Given the description of an element on the screen output the (x, y) to click on. 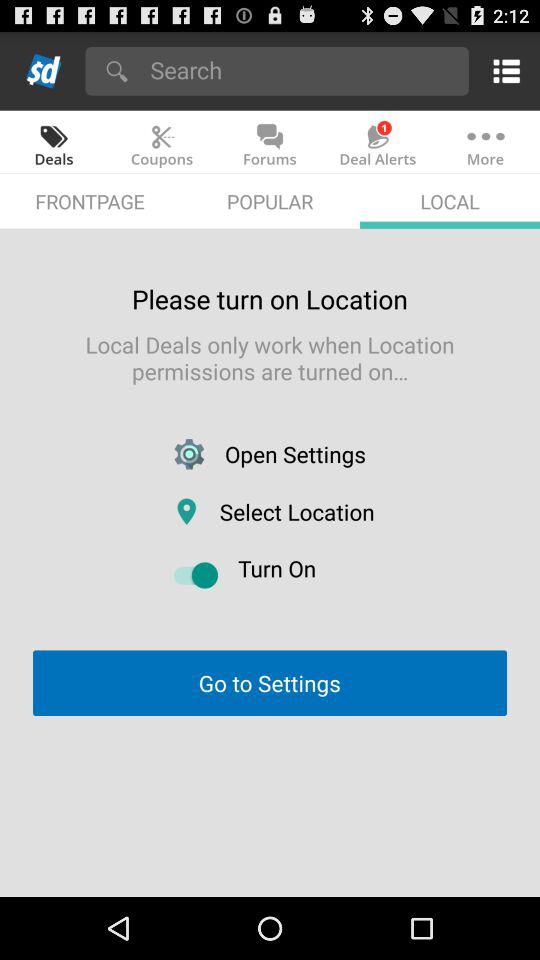
click icon above please turn on (270, 200)
